Given the description of an element on the screen output the (x, y) to click on. 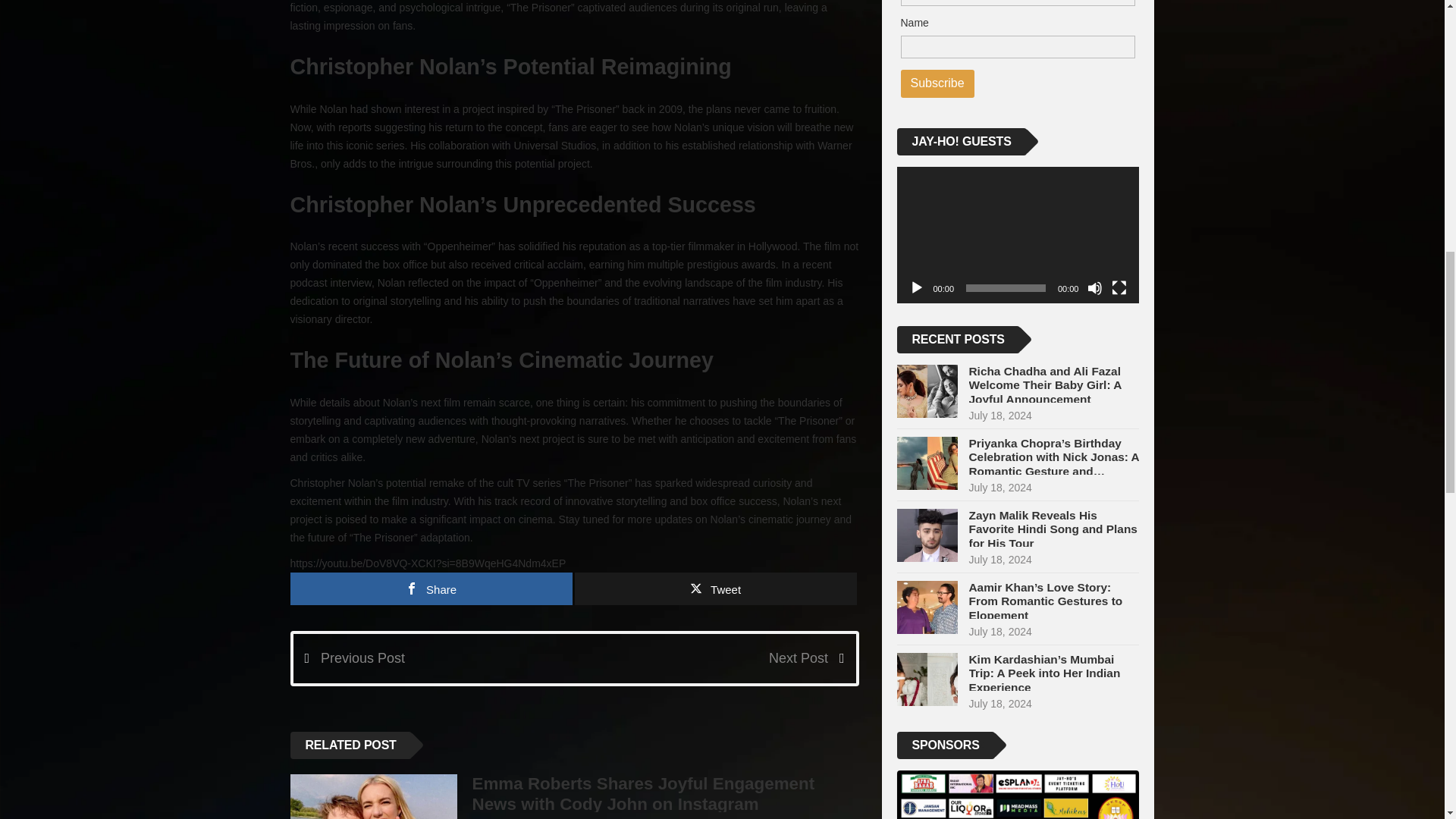
Subscribe (937, 83)
